Given the description of an element on the screen output the (x, y) to click on. 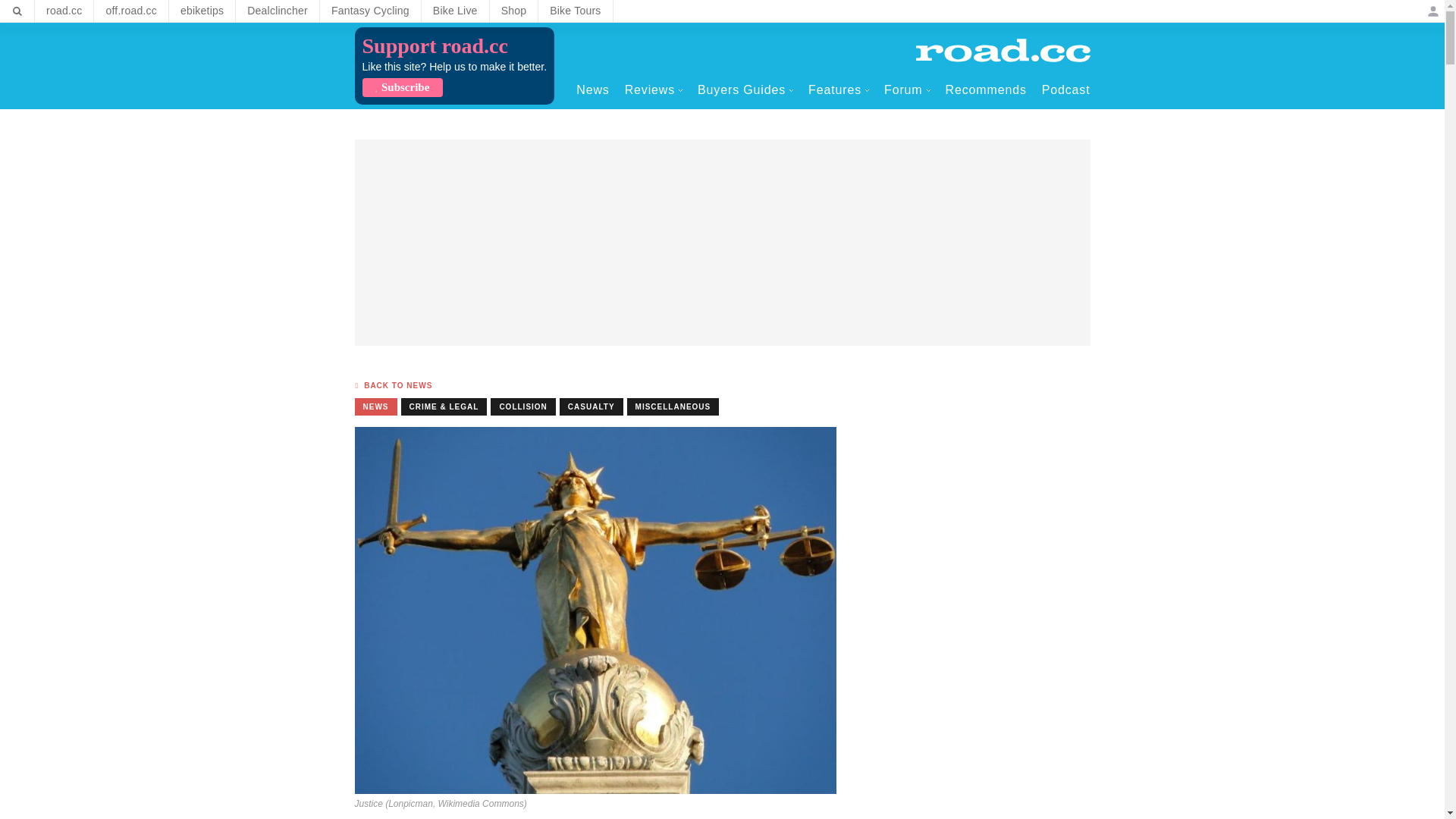
Subscribe (402, 87)
ebiketips (201, 11)
Reviews (653, 89)
Home (1002, 50)
Dealclincher (276, 11)
Shop (513, 11)
Fantasy Cycling (370, 11)
road.cc (63, 11)
off.road.cc (131, 11)
Bike Tours (574, 11)
